Given the description of an element on the screen output the (x, y) to click on. 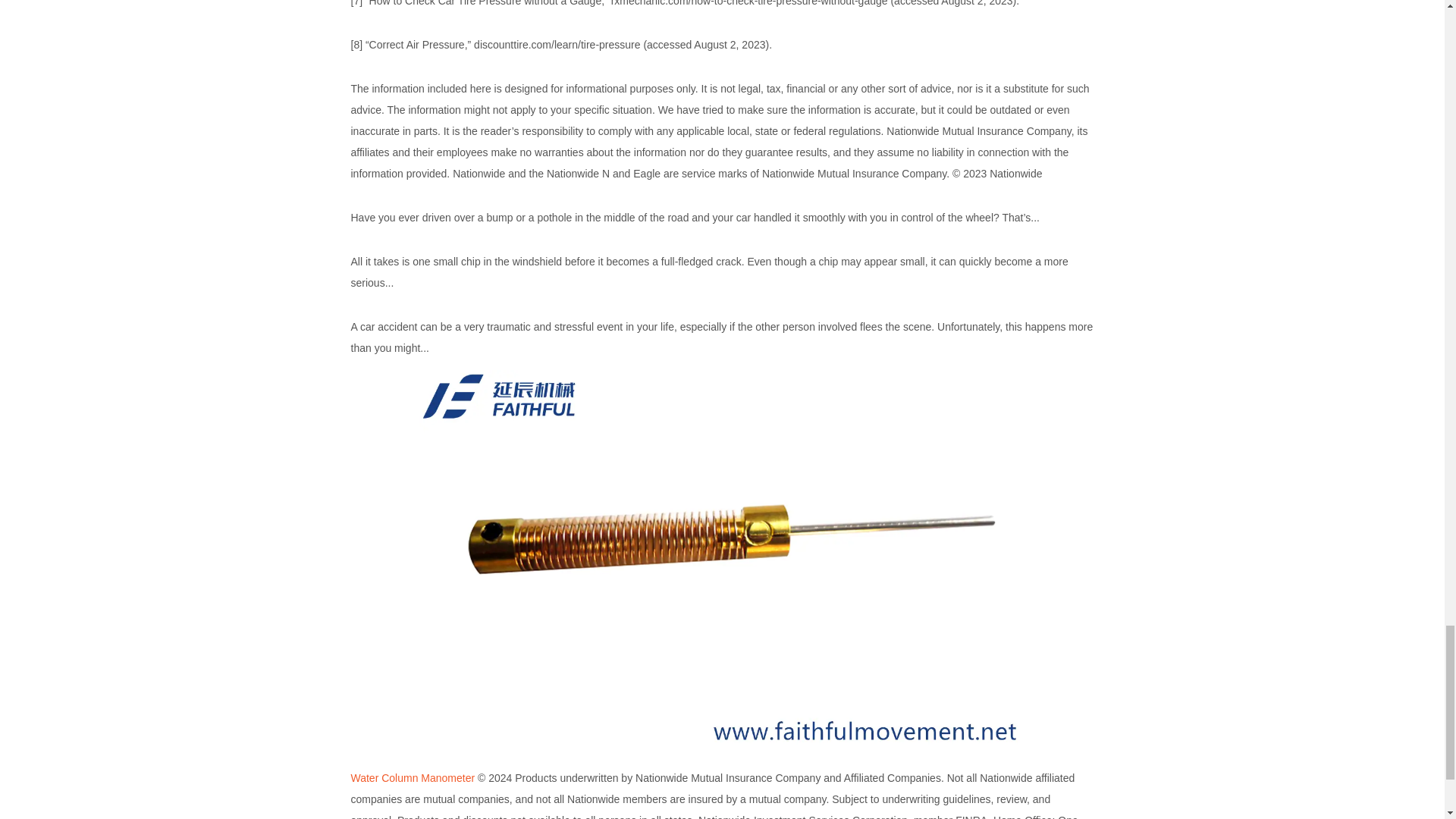
Water Column Manometer (412, 777)
